Given the description of an element on the screen output the (x, y) to click on. 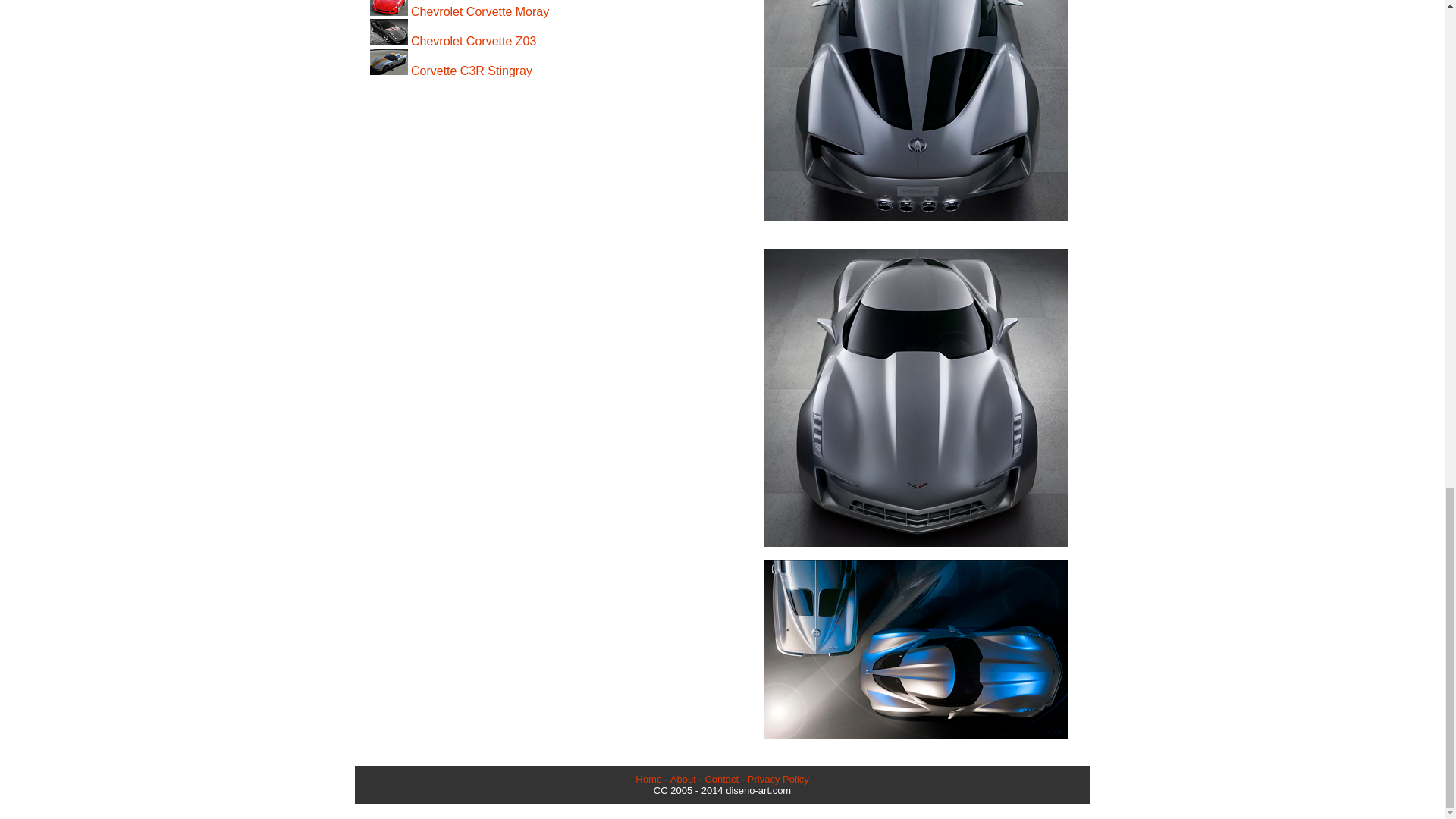
Corvette C3R Stingray (450, 70)
Privacy Policy (778, 778)
Home (648, 778)
Chevrolet Corvette Moray (459, 11)
Contact (721, 778)
About (682, 778)
Chevrolet Corvette Z03 (453, 41)
